Given the description of an element on the screen output the (x, y) to click on. 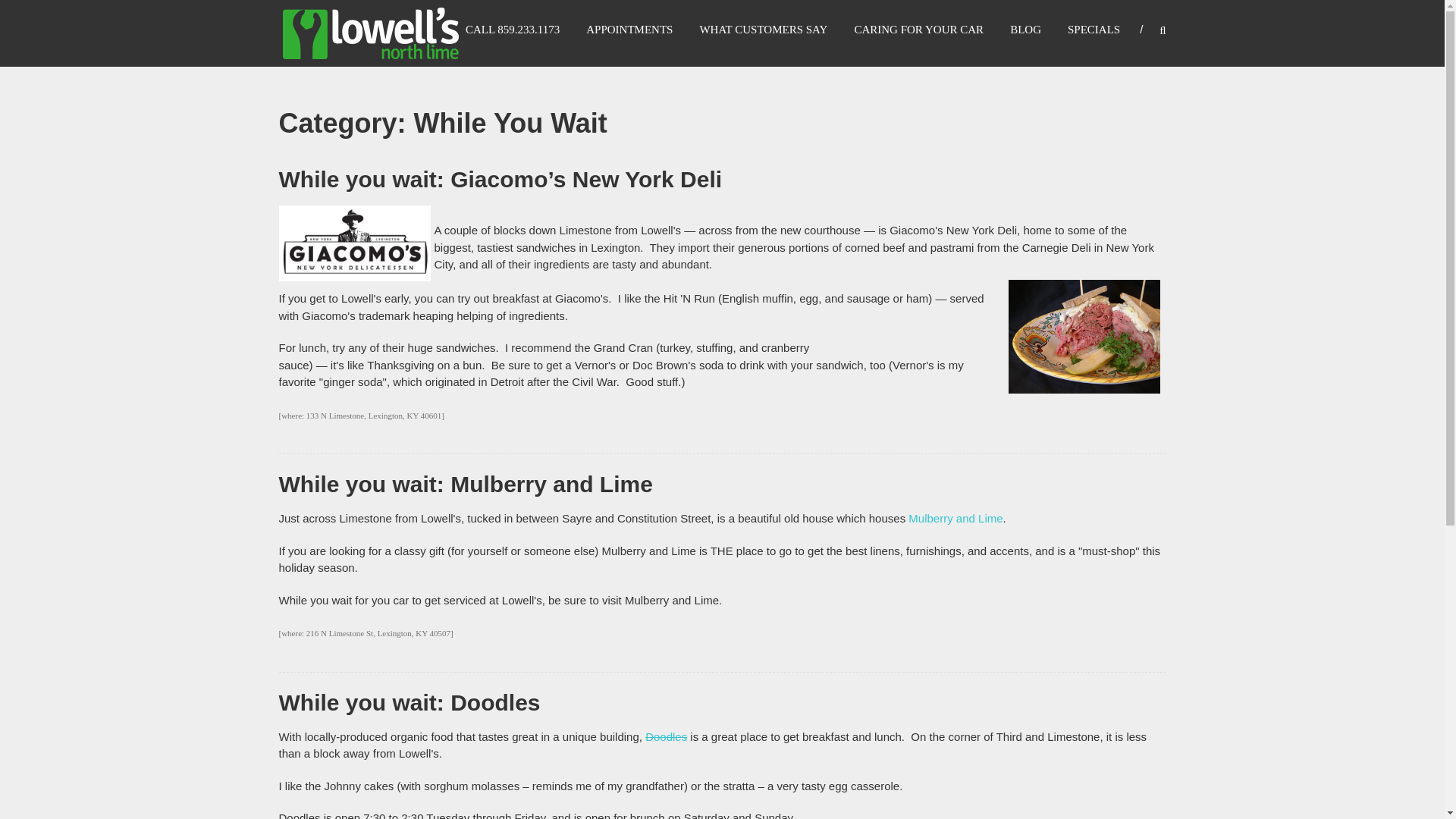
While you wait: Mulberry and Lime (465, 483)
Doodles (666, 736)
DSCF0236 (1084, 336)
CARING FOR YOUR CAR (918, 29)
Search (1232, 409)
APPOINTMENTS (629, 29)
While you wait: Doodles (409, 702)
Doodles (666, 736)
Logo (354, 243)
CALL 859.233.1173 (512, 29)
SPECIALS (1093, 29)
While you wait: Mulberry and Lime (465, 483)
Mulberry and Lime (955, 517)
Mulberry and Lime (955, 517)
WHAT CUSTOMERS SAY (762, 29)
